Given the description of an element on the screen output the (x, y) to click on. 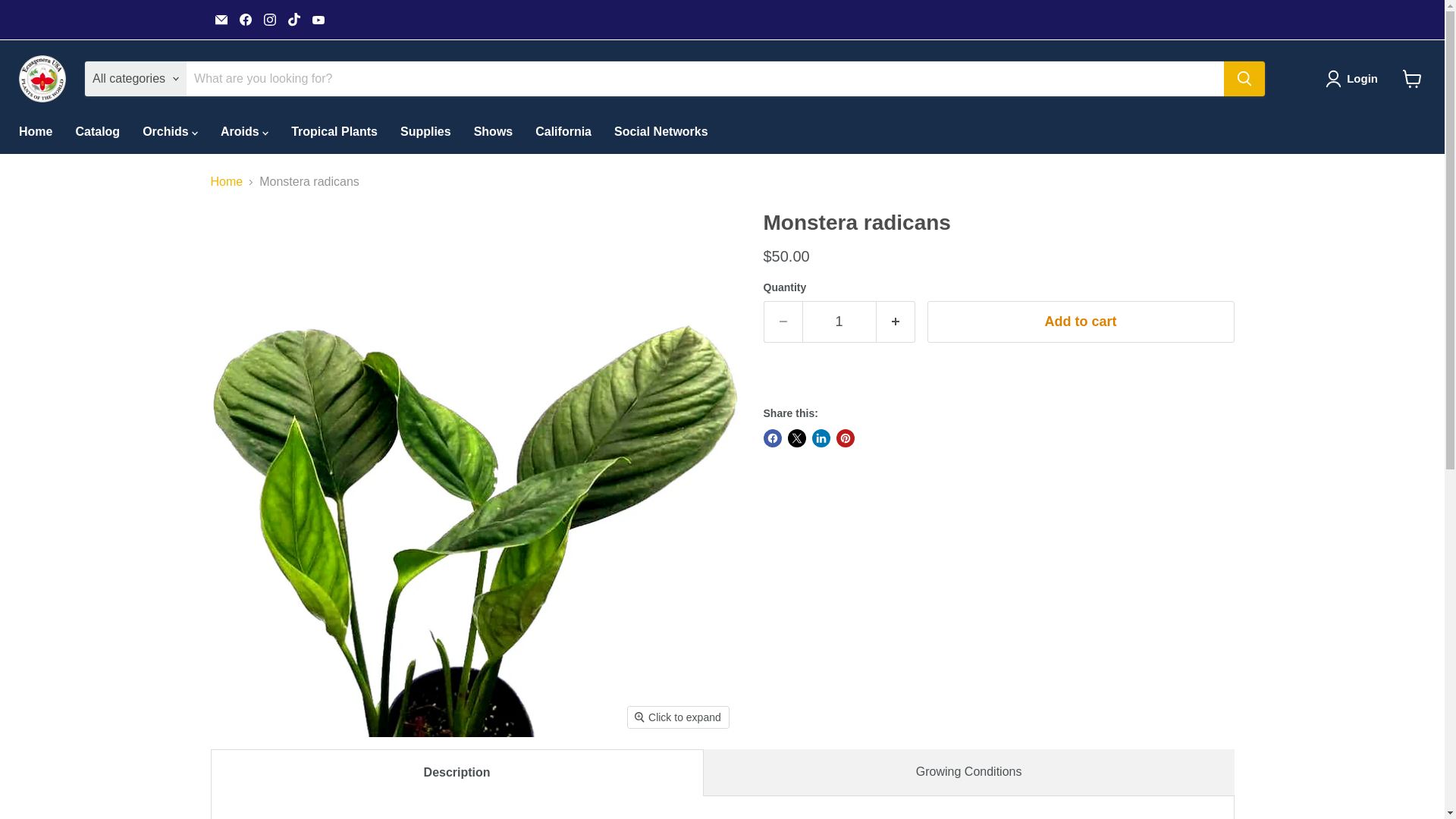
Catalog (97, 132)
Facebook (245, 19)
View cart (1411, 78)
Find us on YouTube (318, 19)
Email (221, 19)
Login (1354, 78)
TikTok (293, 19)
Find us on Instagram (270, 19)
Instagram (270, 19)
YouTube (318, 19)
1 (839, 322)
Home (35, 132)
Find us on Facebook (245, 19)
Find us on TikTok (293, 19)
Email Ecuagenera USA Corp (221, 19)
